Given the description of an element on the screen output the (x, y) to click on. 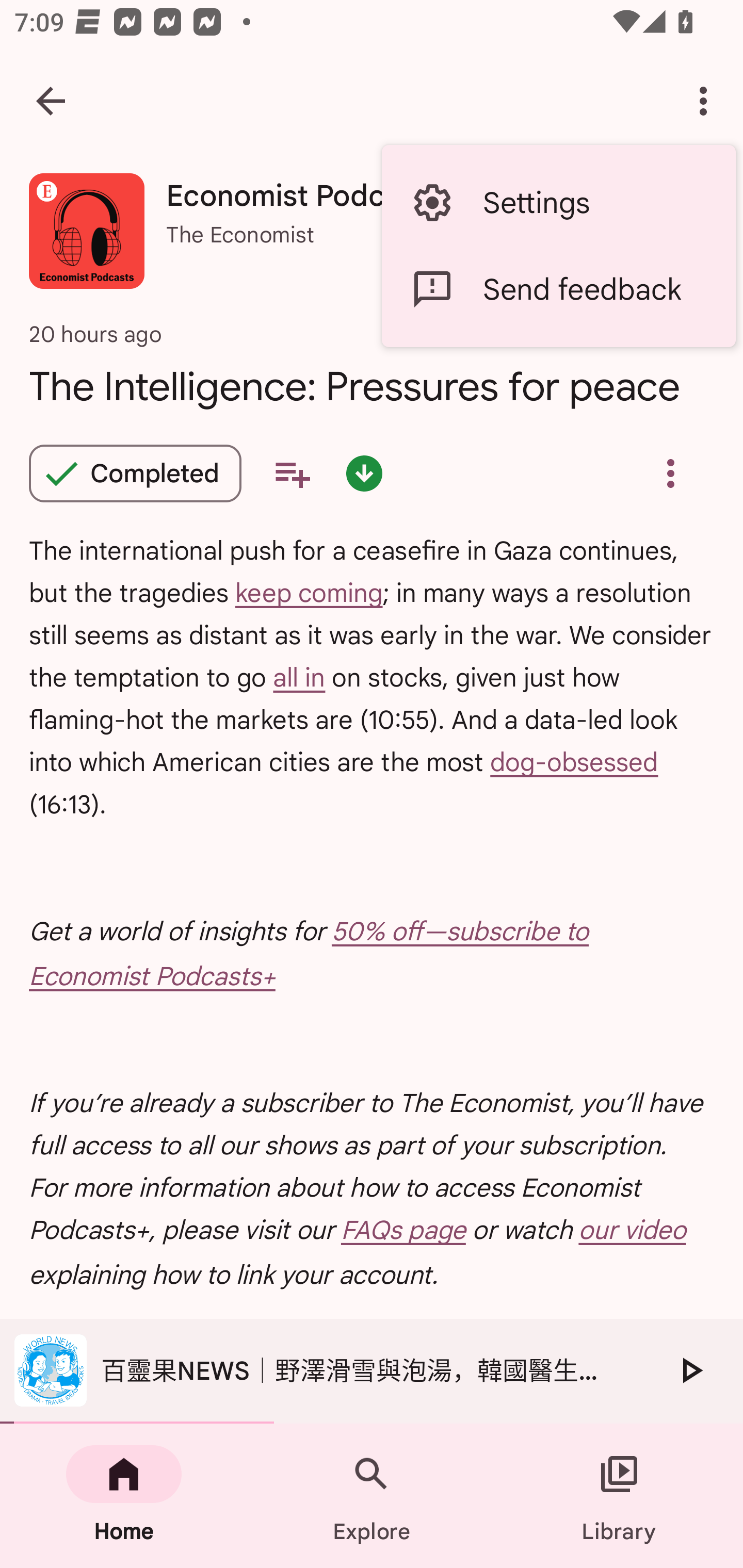
Settings (558, 202)
Send feedback (558, 289)
